Given the description of an element on the screen output the (x, y) to click on. 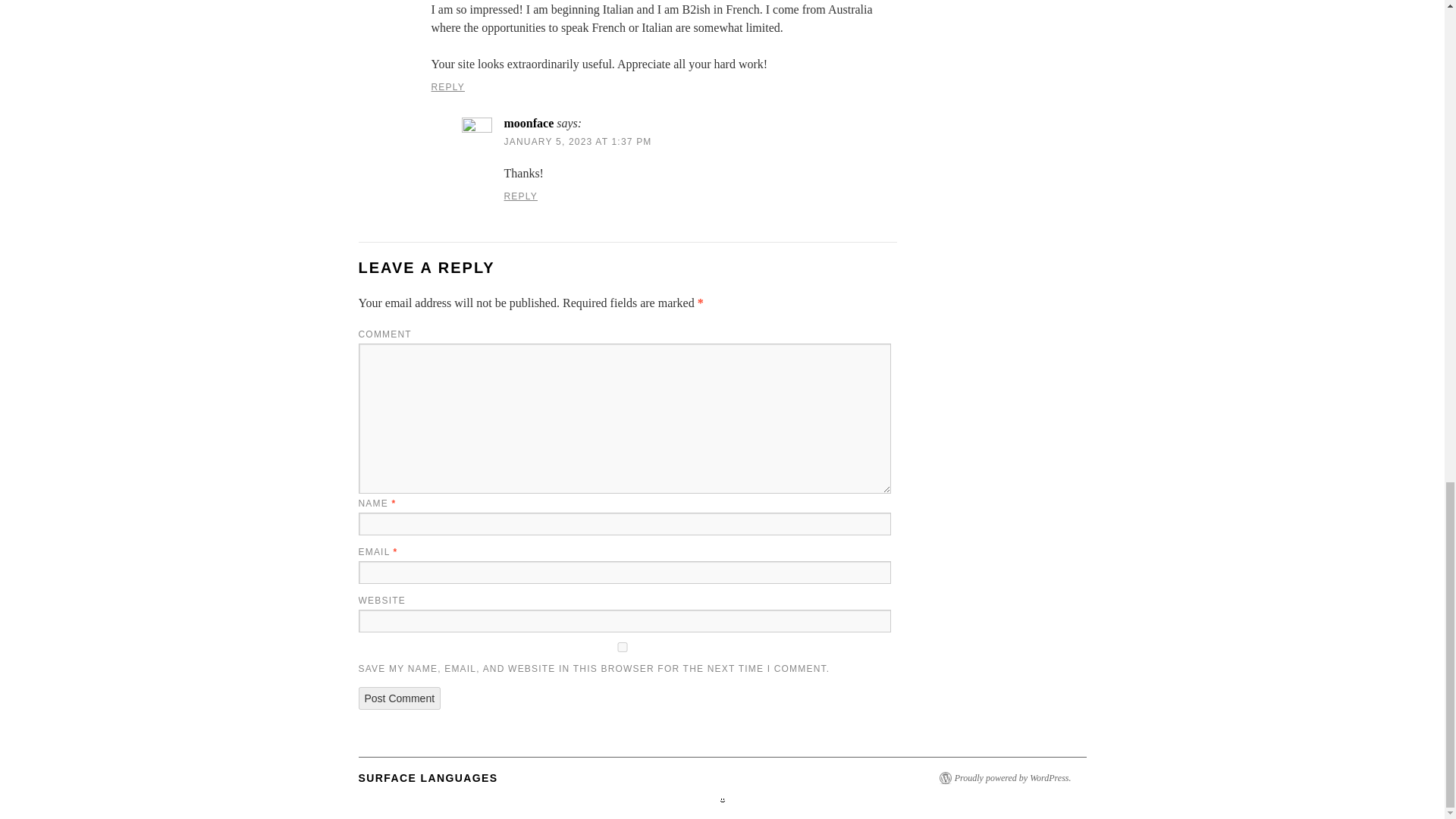
JANUARY 5, 2023 AT 1:37 PM (576, 141)
Semantic Personal Publishing Platform (1012, 777)
yes (622, 646)
REPLY (447, 86)
Surface Languages (427, 777)
Post Comment (399, 698)
REPLY (520, 195)
Post Comment (399, 698)
